Given the description of an element on the screen output the (x, y) to click on. 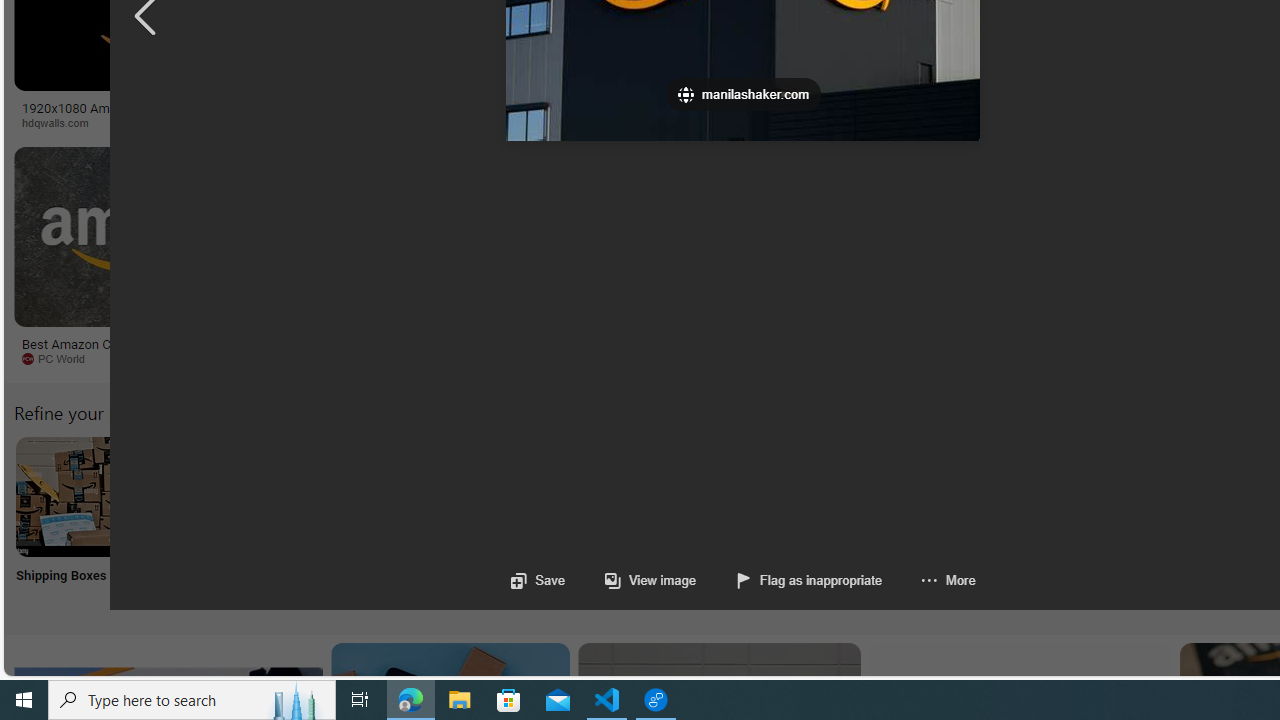
favicon (686, 93)
How Much Is Amazon's Net Worth? | GOBankingRates (485, 114)
Package Delivery (735, 521)
Amazon Log into My Account Log into My Account (472, 521)
Amazon Shipping Boxes (75, 496)
Amazon Package Delivery Package Delivery (735, 521)
Amazon Retail Store (867, 496)
Online Store (1131, 521)
Long Island Press (1043, 121)
favicon manilashaker.com (743, 93)
